Given the description of an element on the screen output the (x, y) to click on. 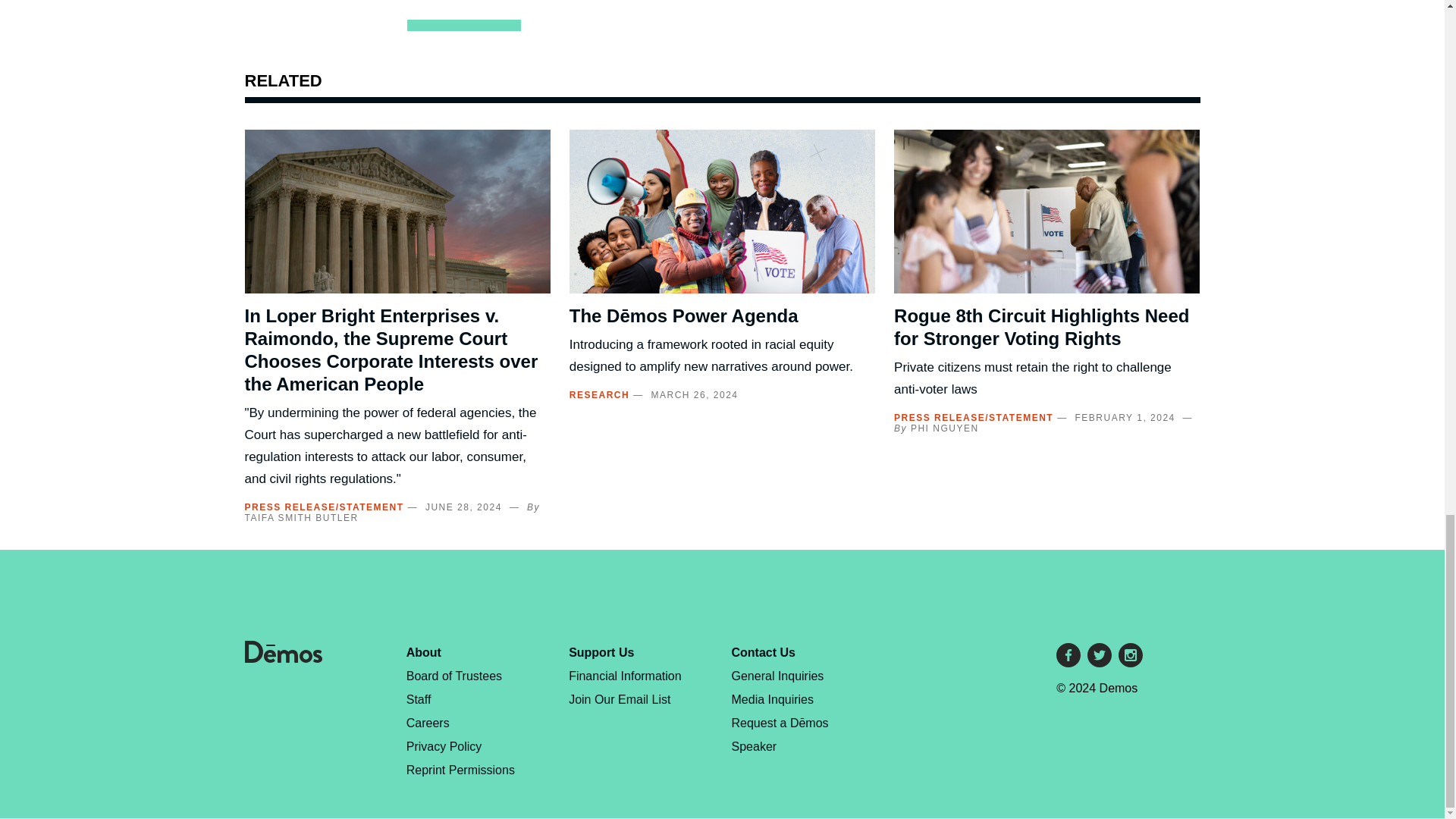
Support Us (601, 652)
Reprint Permissions (460, 769)
Media Inquiries (772, 698)
Join Our Email List (619, 698)
General Inquiries (778, 675)
Contact Us (763, 652)
Facebook (1068, 654)
Privacy Policy (443, 746)
Board of Trustees (454, 675)
